Given the description of an element on the screen output the (x, y) to click on. 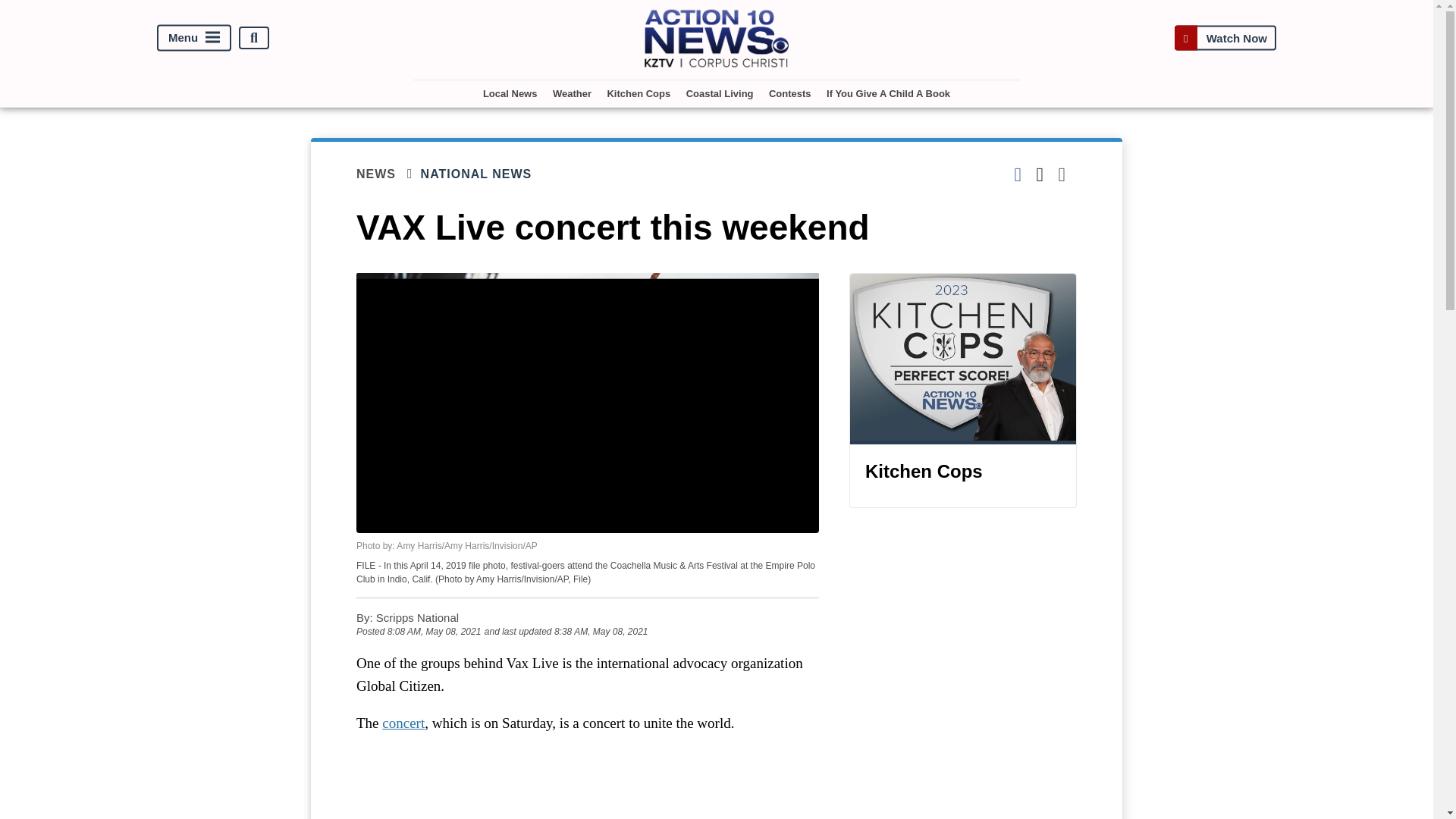
Watch Now (1224, 38)
Menu (194, 38)
YouTube video player (587, 784)
